Given the description of an element on the screen output the (x, y) to click on. 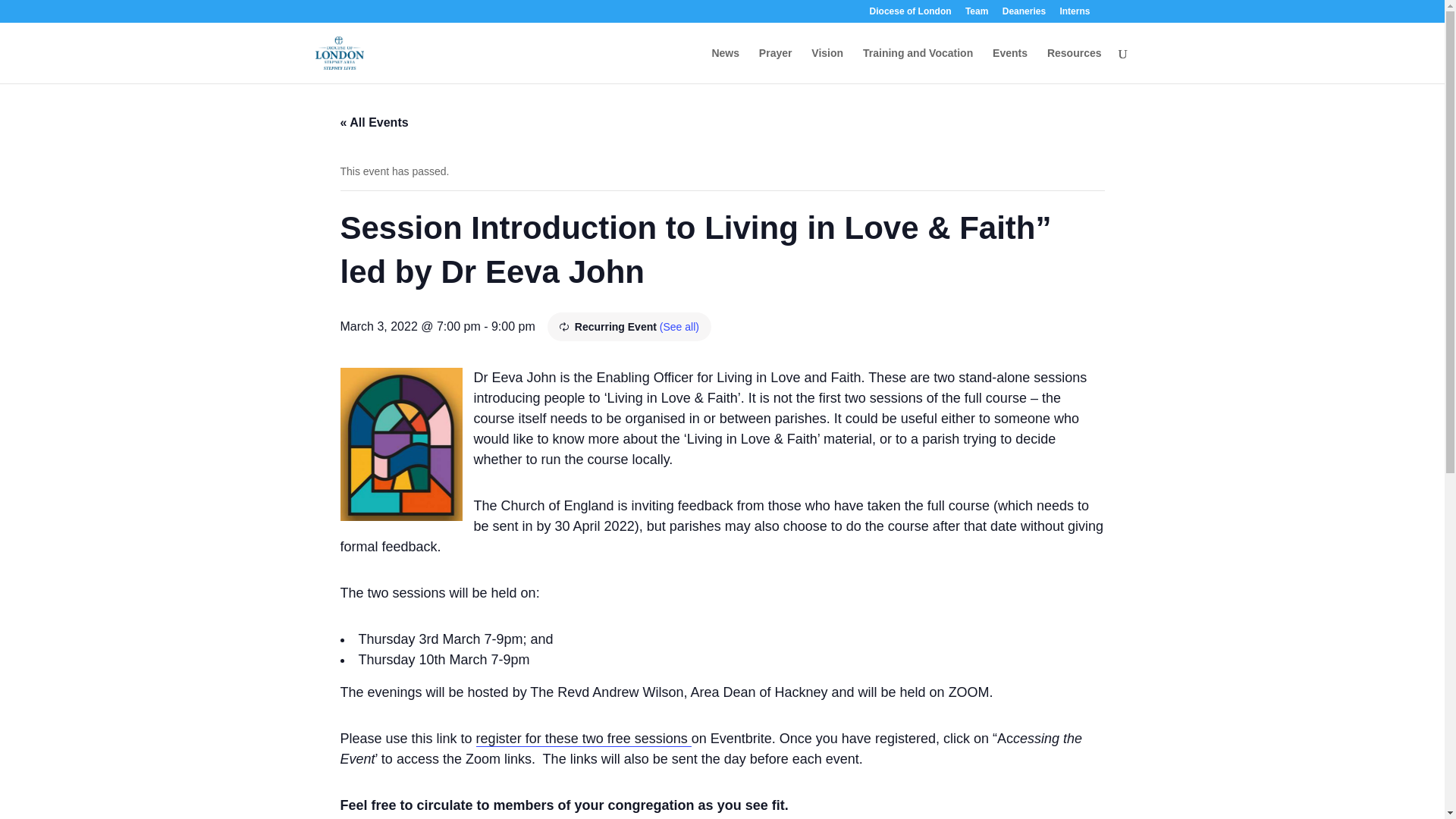
Diocese of London (910, 14)
Events (1009, 65)
Interns (1074, 14)
Prayer (775, 65)
register for these two free sessions (583, 738)
Resources (1074, 65)
Training and Vocation (917, 65)
Deaneries (1024, 14)
Team (976, 14)
Vision (826, 65)
